Given the description of an element on the screen output the (x, y) to click on. 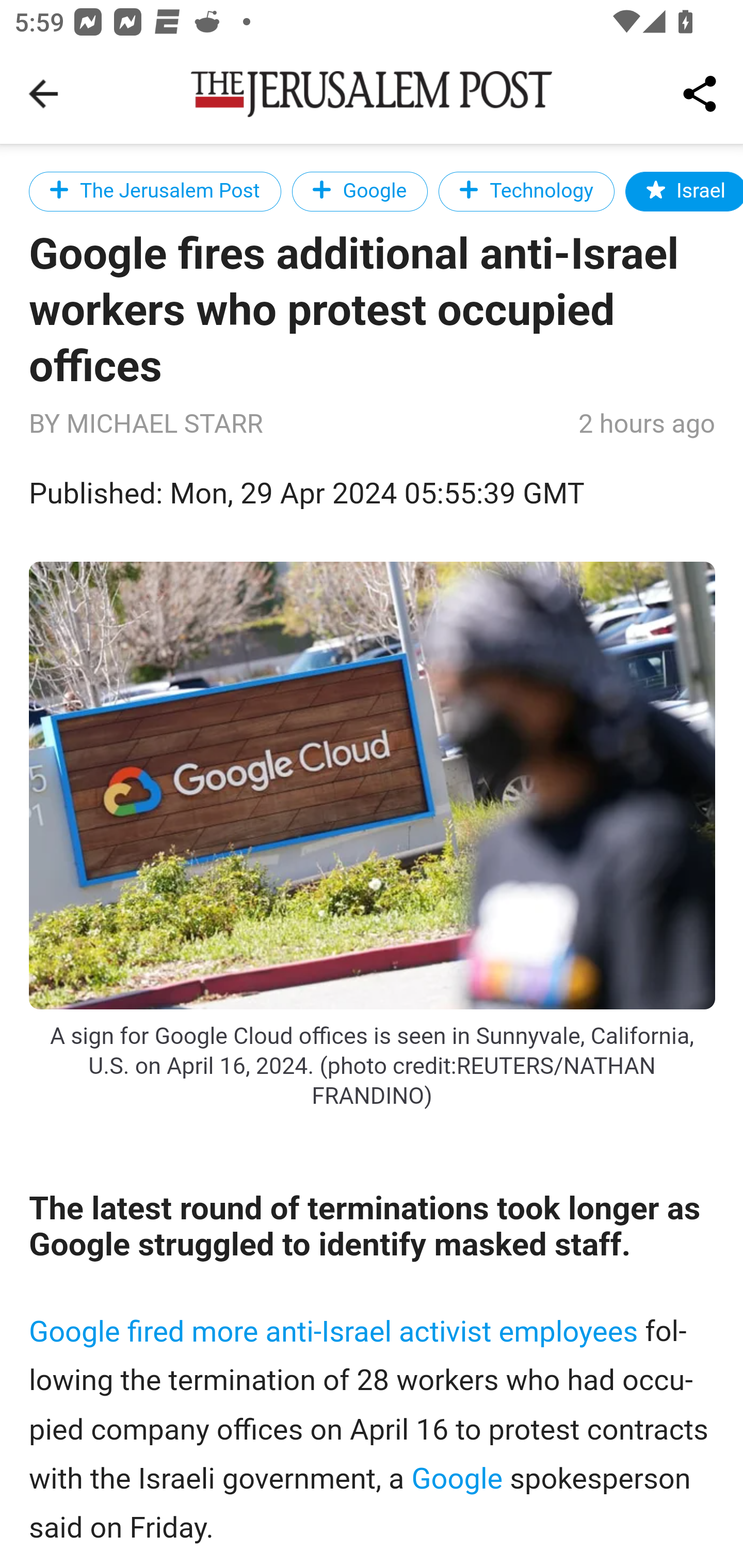
The Jerusalem Post (154, 191)
Google (359, 191)
Technology (525, 191)
Israel (683, 191)
Google fired more anti-Israel activist employees (333, 1330)
Google (456, 1478)
